Given the description of an element on the screen output the (x, y) to click on. 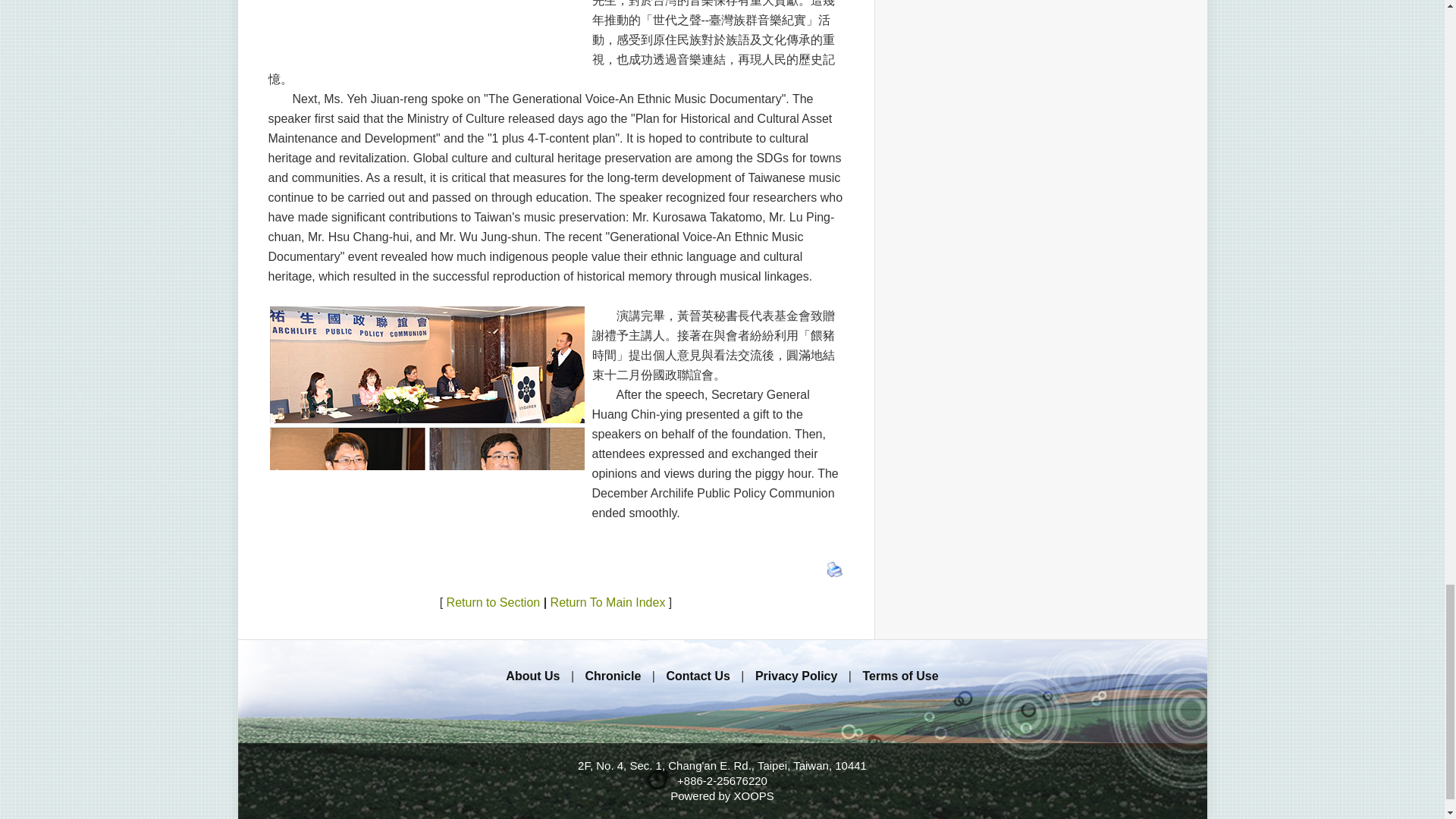
Contact Us (697, 675)
Privacy Policy (796, 675)
Chronicle (613, 675)
Print article (834, 569)
Chronicle (613, 675)
Terms of Use (899, 675)
About Us (532, 675)
About Us (532, 675)
Return To Main Index (607, 602)
Return to Section (493, 602)
